Given the description of an element on the screen output the (x, y) to click on. 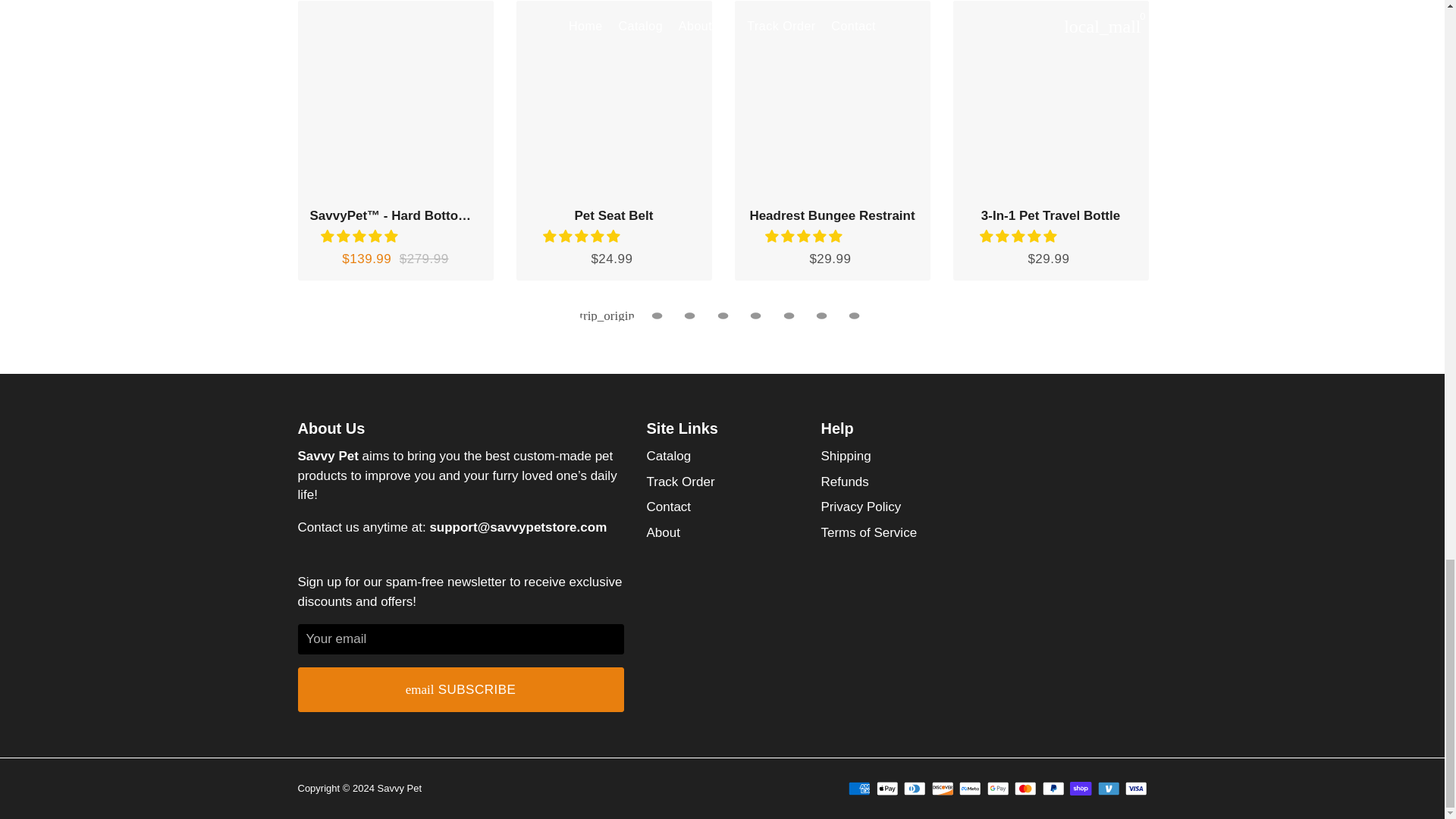
American Express (859, 788)
Meta Pay (970, 788)
Venmo (1108, 788)
Diners Club (915, 788)
Visa (1136, 788)
Mastercard (1025, 788)
Shop Pay (1081, 788)
Apple Pay (887, 788)
PayPal (1052, 788)
Google Pay (998, 788)
